Given the description of an element on the screen output the (x, y) to click on. 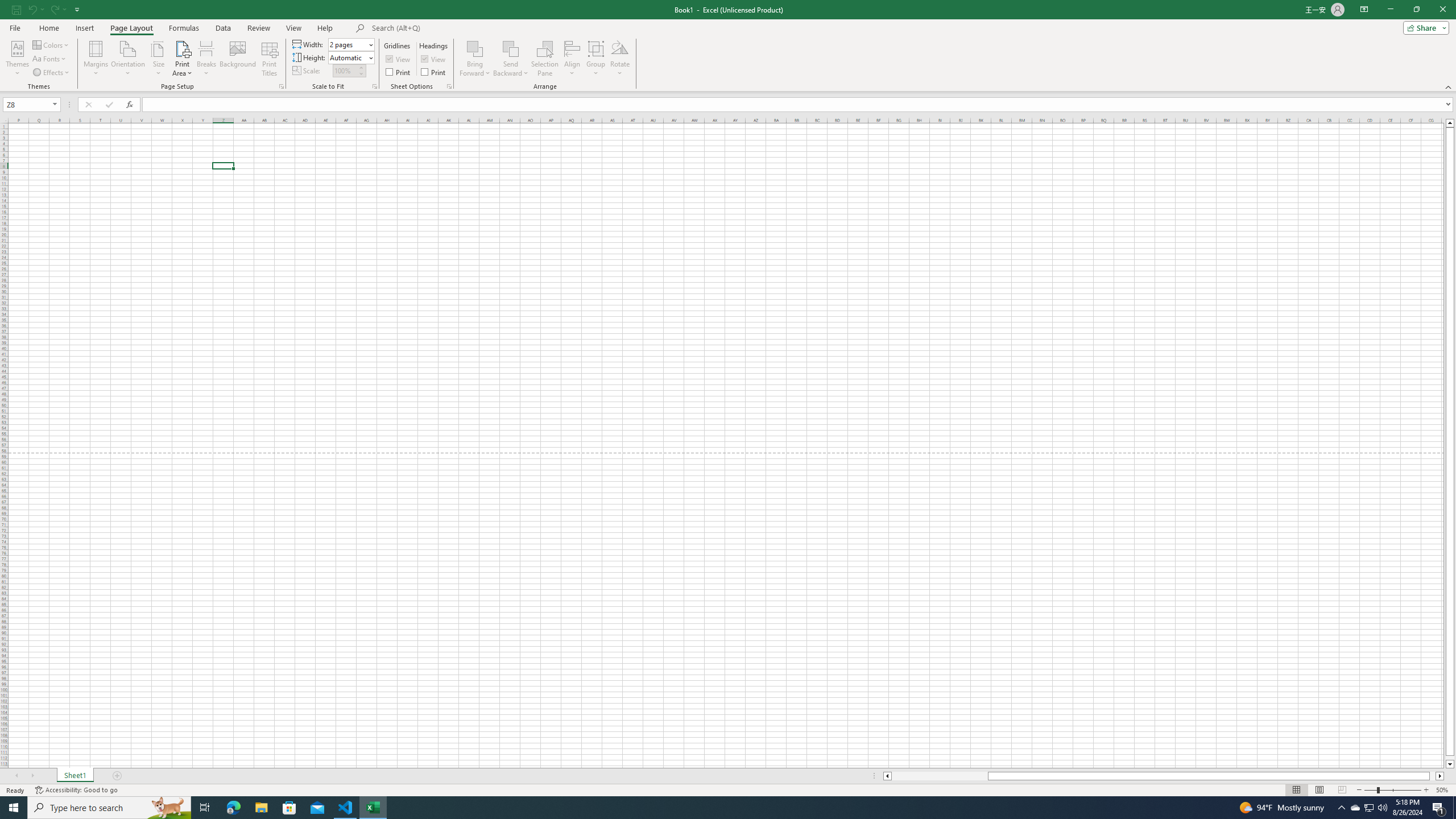
Bring Forward (475, 58)
Bring Forward (475, 48)
Print (434, 71)
Margins (95, 58)
Print Titles (269, 58)
Effects (51, 72)
Less (360, 73)
